Given the description of an element on the screen output the (x, y) to click on. 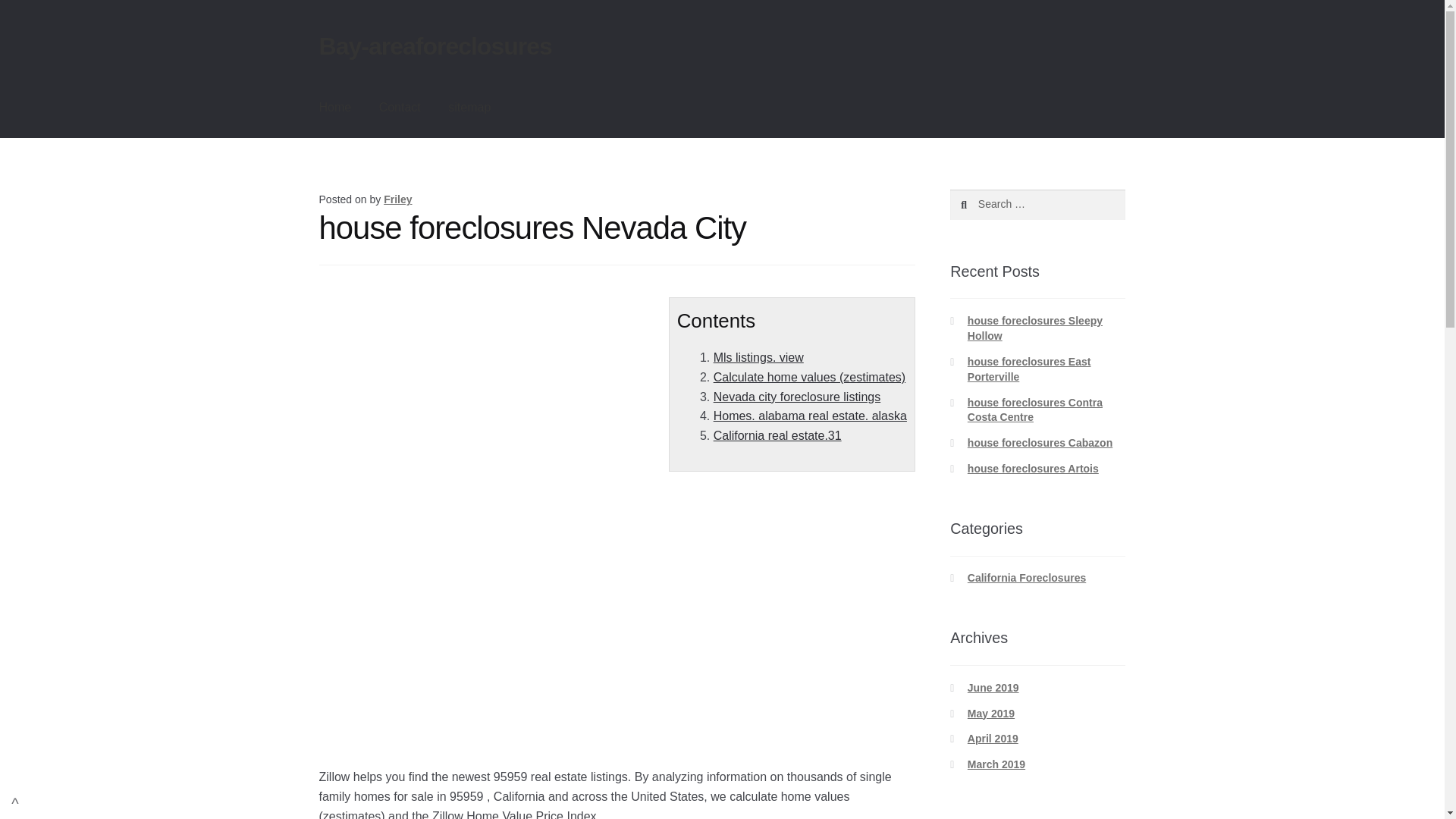
June 2019 (993, 687)
March 2019 (996, 764)
Mls listings. view (758, 357)
sitemap (468, 107)
April 2019 (992, 738)
Homes. alabama real estate. alaska (810, 415)
Bay-areaforeclosures (434, 45)
house foreclosures Contra Costa Centre (1035, 409)
